Given the description of an element on the screen output the (x, y) to click on. 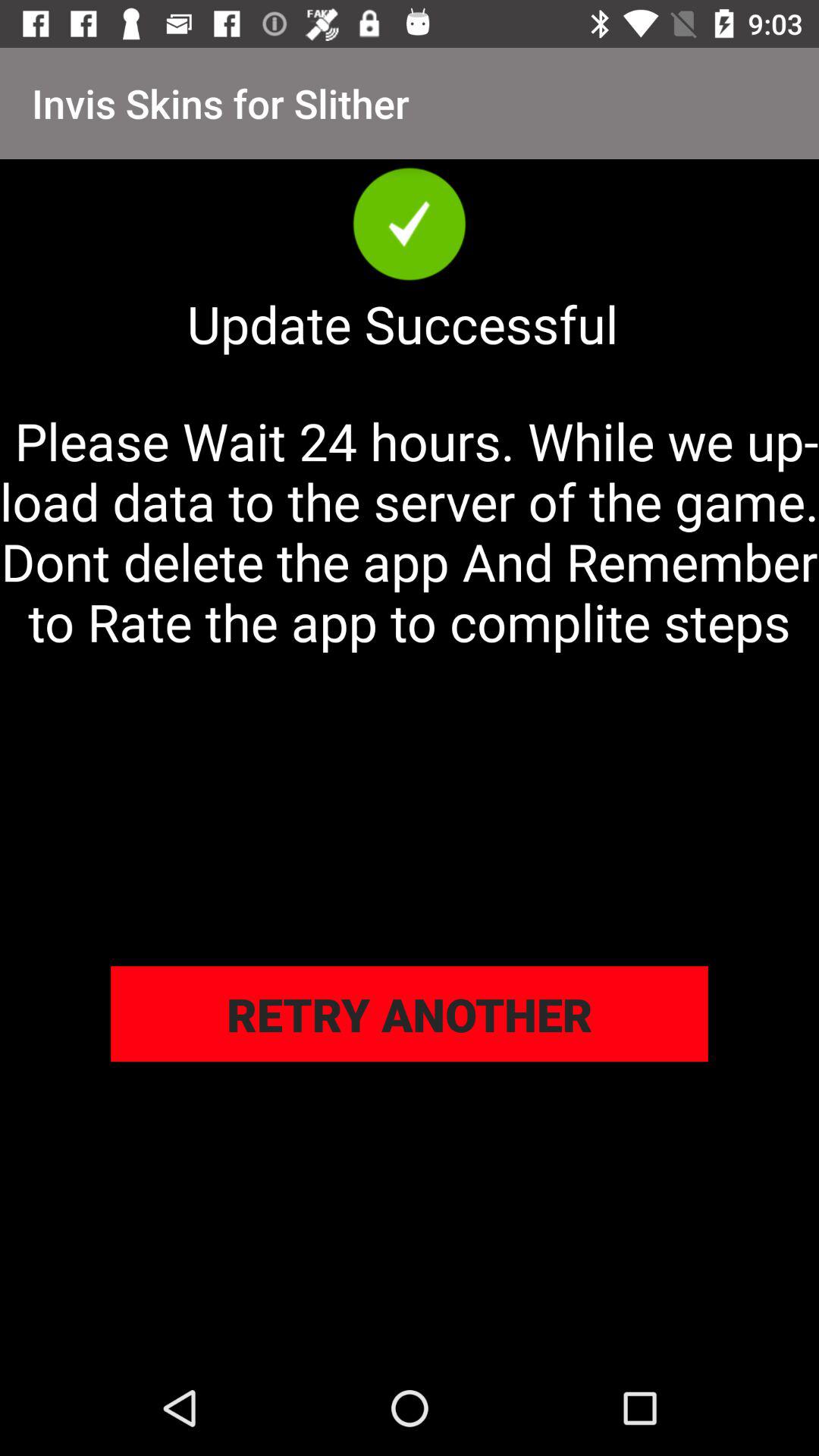
turn on retry another (409, 1013)
